Given the description of an element on the screen output the (x, y) to click on. 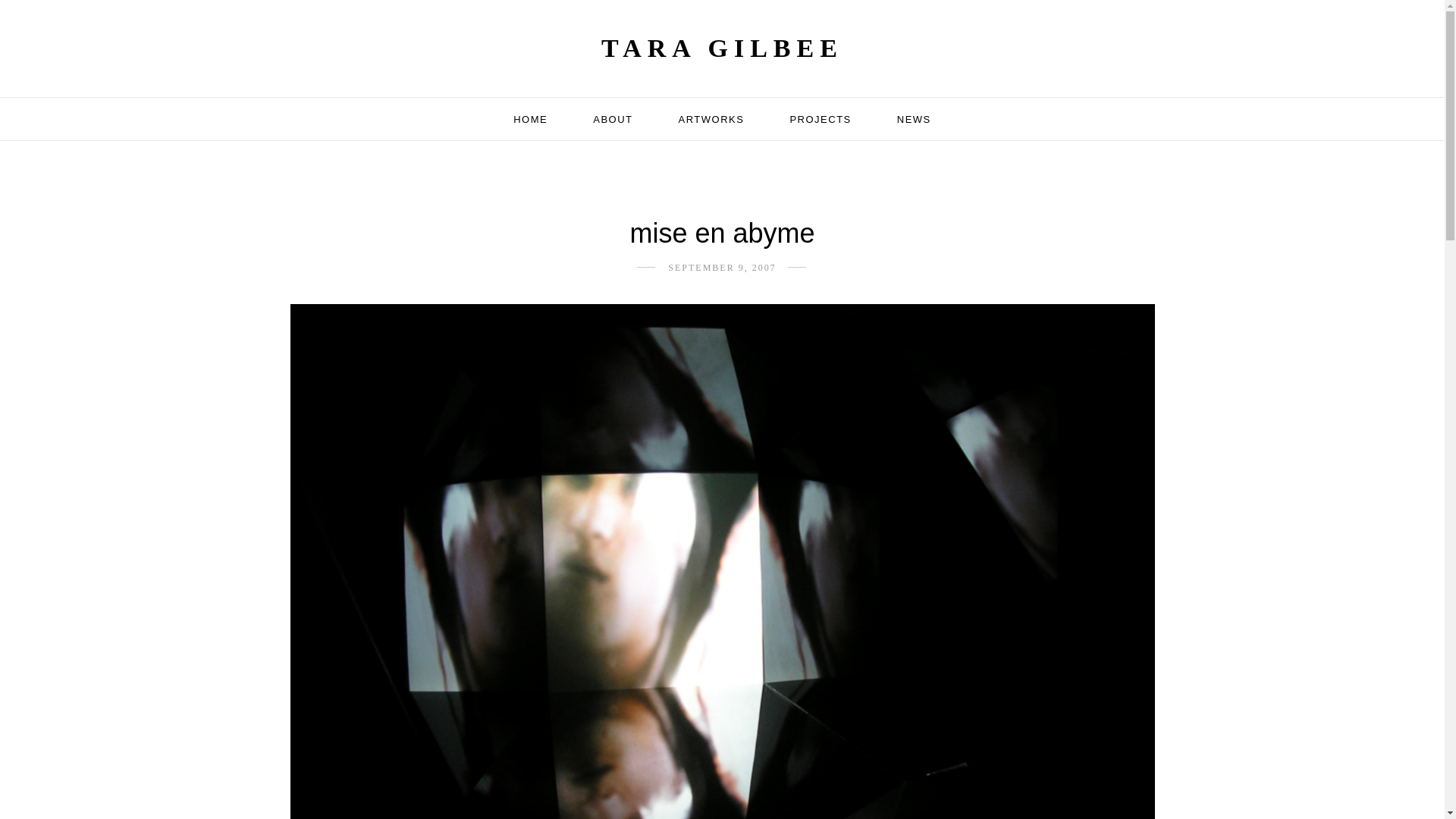
ARTWORKS (711, 118)
SEPTEMBER 9, 2007 (722, 267)
PROJECTS (819, 118)
TARA GILBEE (722, 48)
ABOUT (611, 118)
